Given the description of an element on the screen output the (x, y) to click on. 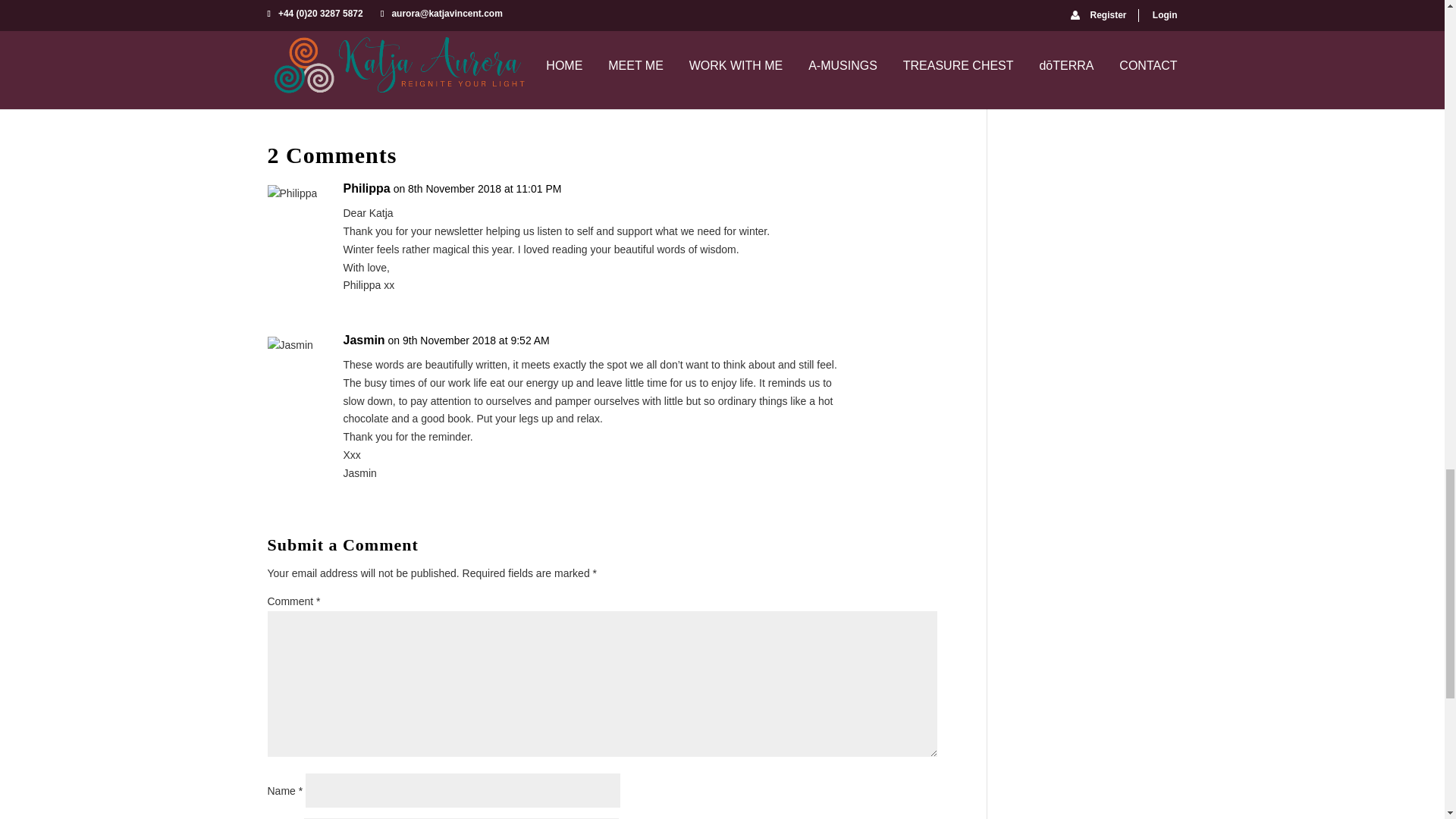
Nourishment for the bookworm (339, 42)
Reply (923, 194)
Reply (923, 345)
